Given the description of an element on the screen output the (x, y) to click on. 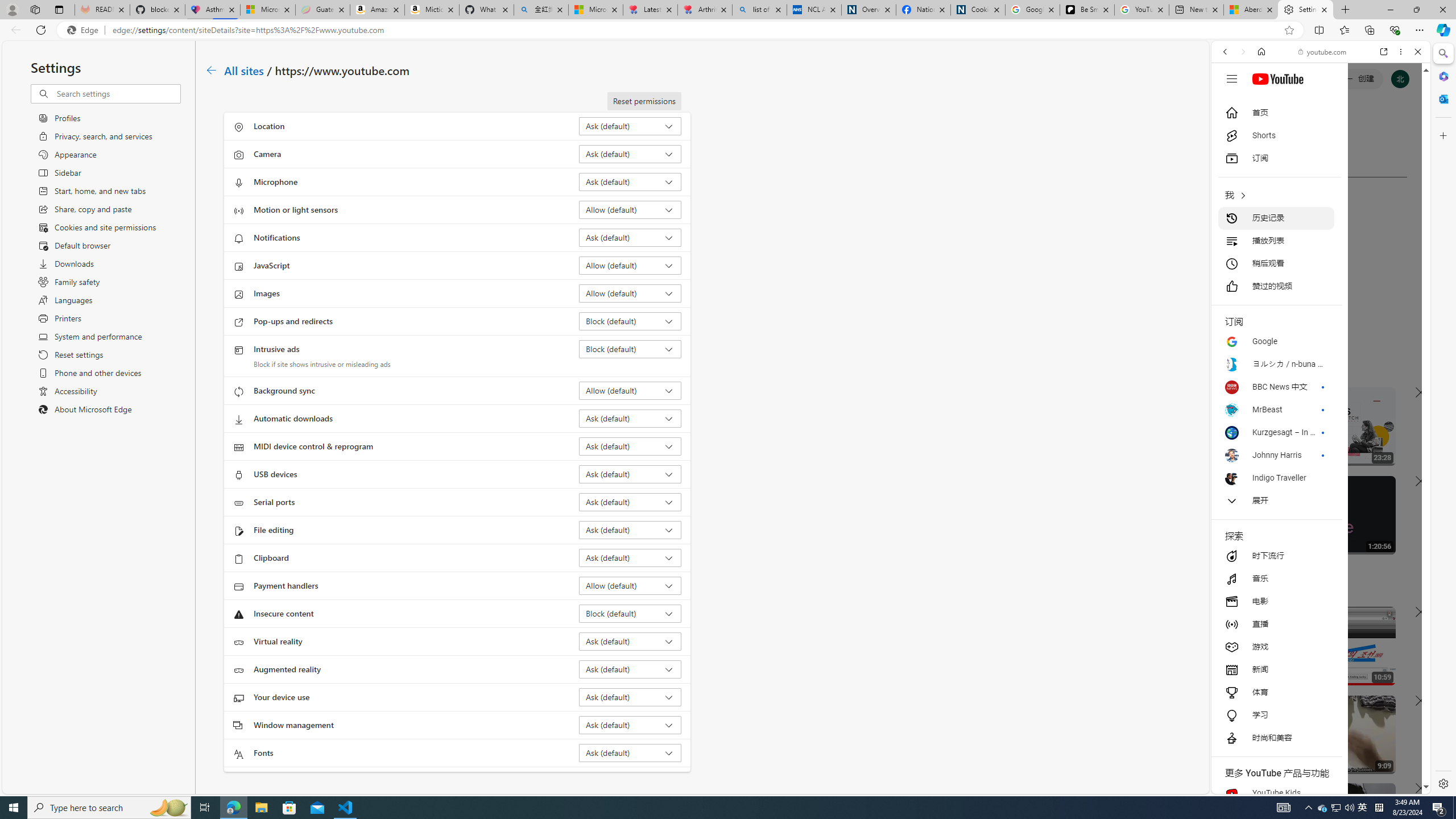
Search settings (117, 93)
US[ju] (1249, 785)
Pop-ups and redirects Block (default) (630, 321)
All sites (244, 69)
Your device use Ask (default) (630, 696)
Aberdeen, Hong Kong SAR hourly forecast | Microsoft Weather (1250, 9)
